Given the description of an element on the screen output the (x, y) to click on. 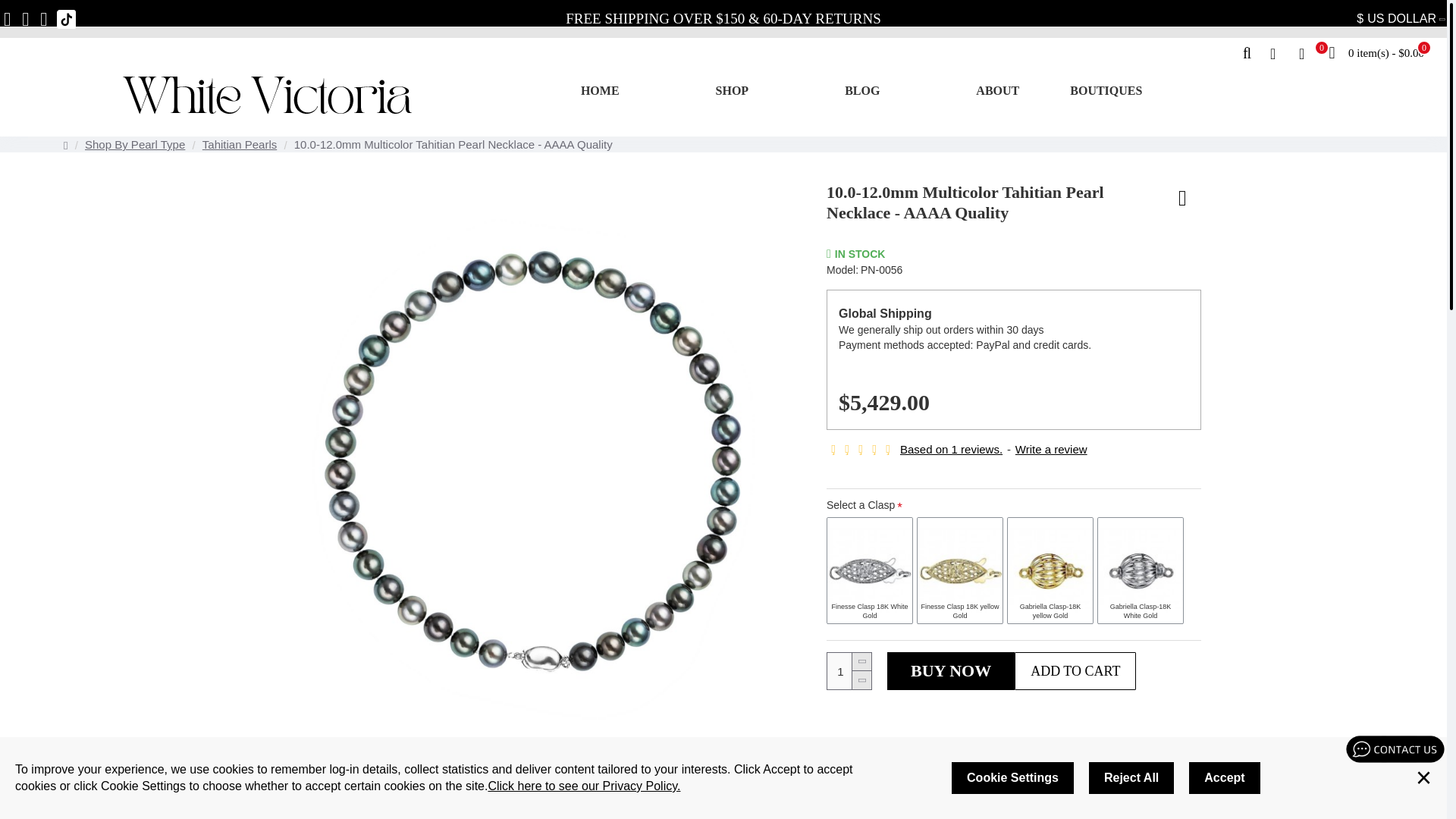
HOME (600, 90)
Whitevictoria (267, 95)
BLOG (861, 90)
SHOP (731, 90)
1 (848, 670)
